Given the description of an element on the screen output the (x, y) to click on. 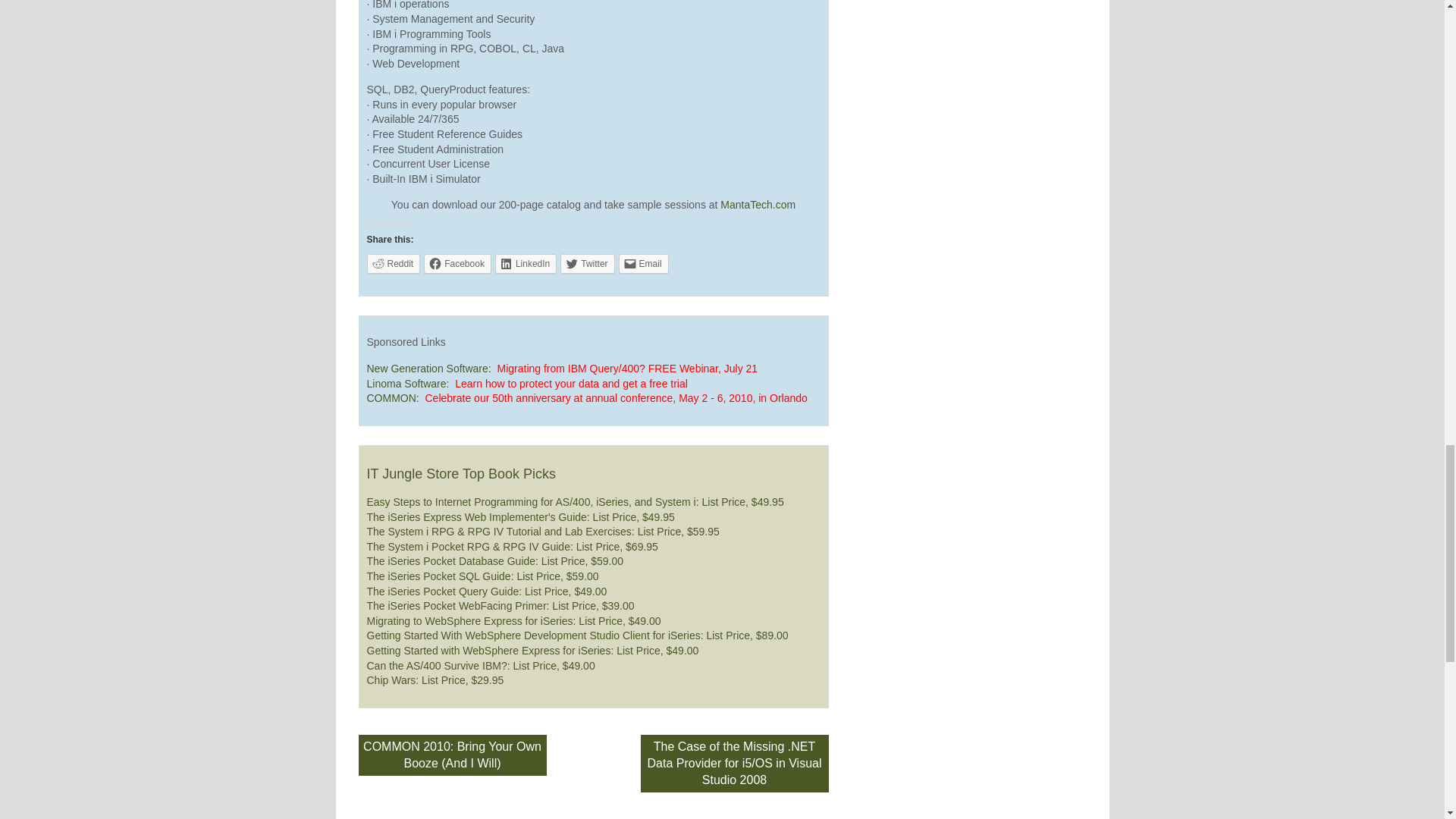
Click to share on LinkedIn (525, 263)
Click to share on Facebook (457, 263)
Click to email a link to a friend (643, 263)
Click to share on Reddit (393, 263)
Click to share on Twitter (587, 263)
